Given the description of an element on the screen output the (x, y) to click on. 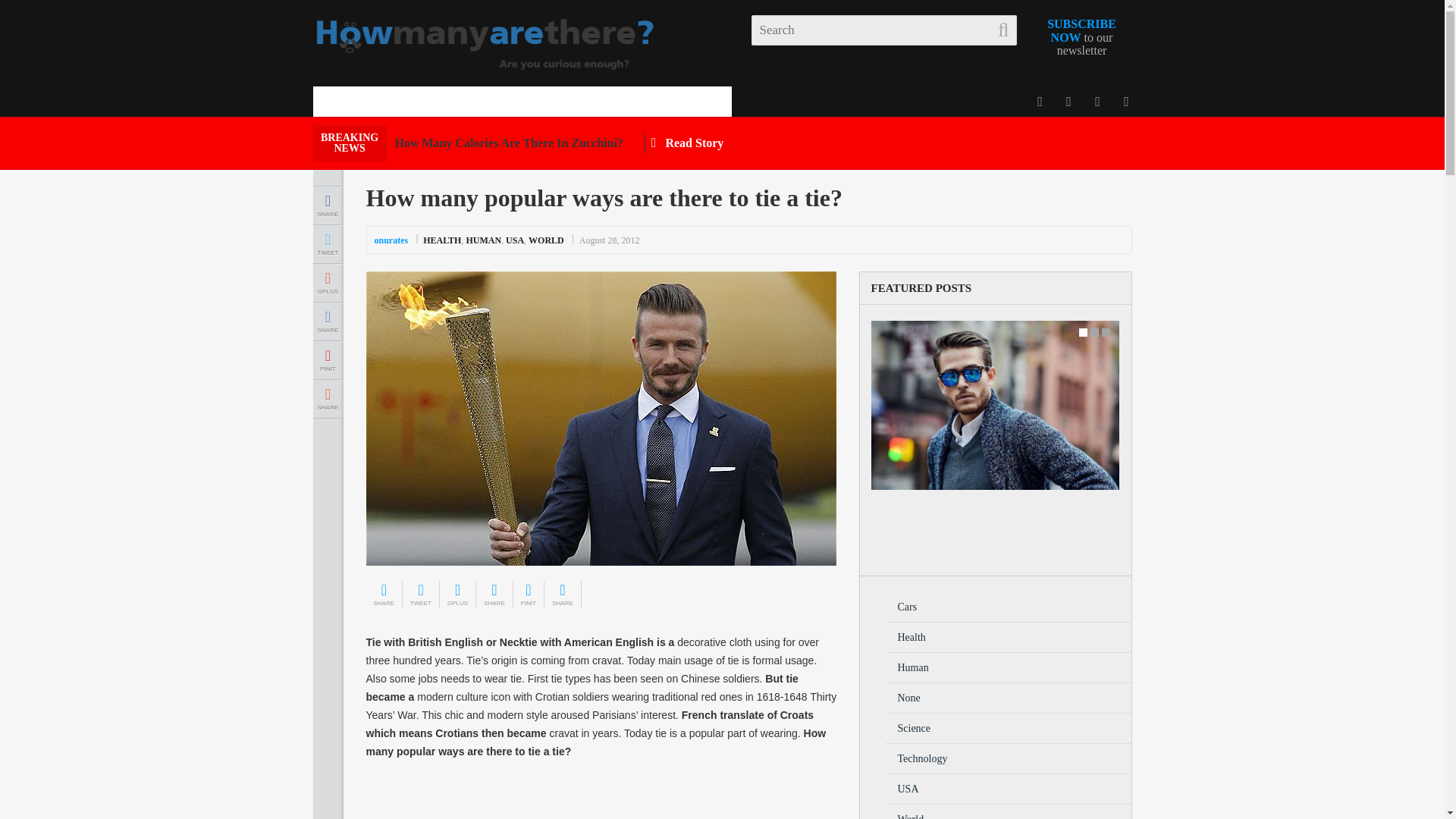
Posts by onurates (391, 240)
NONE (483, 101)
WORLD (546, 240)
USA (762, 143)
How many are there questions about USA (661, 101)
GPLUS (483, 101)
TWEET (327, 283)
HEALTH (327, 243)
USA (442, 240)
PINIT (514, 240)
